Given the description of an element on the screen output the (x, y) to click on. 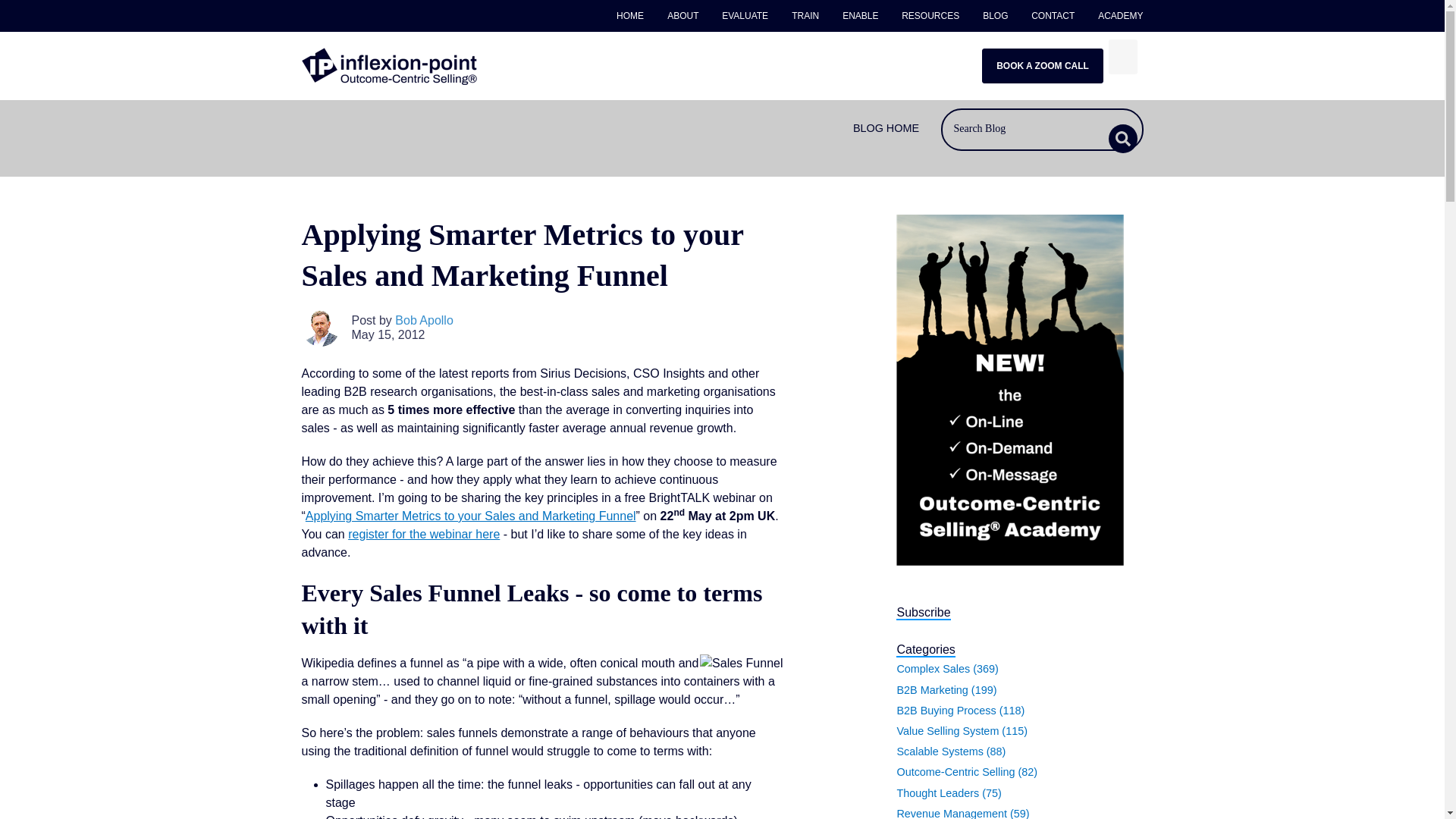
ABOUT (683, 15)
TRAIN (804, 15)
Bob Apollo (423, 319)
ENABLE (860, 15)
Applying Smarter Metrics to your Sales and Marketing Funnel (470, 515)
CONTACT (1053, 15)
BLOG HOME (886, 128)
ACADEMY (1114, 15)
EVALUATE (744, 15)
Applying Smarter Metrics to your Sales and Marketing Funnel (470, 515)
